Given the description of an element on the screen output the (x, y) to click on. 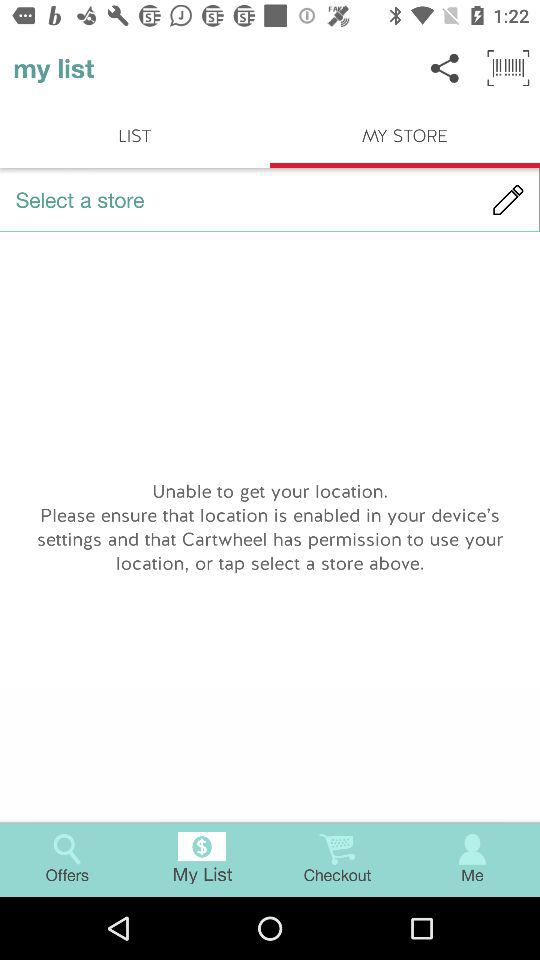
open select a store item (270, 199)
